Given the description of an element on the screen output the (x, y) to click on. 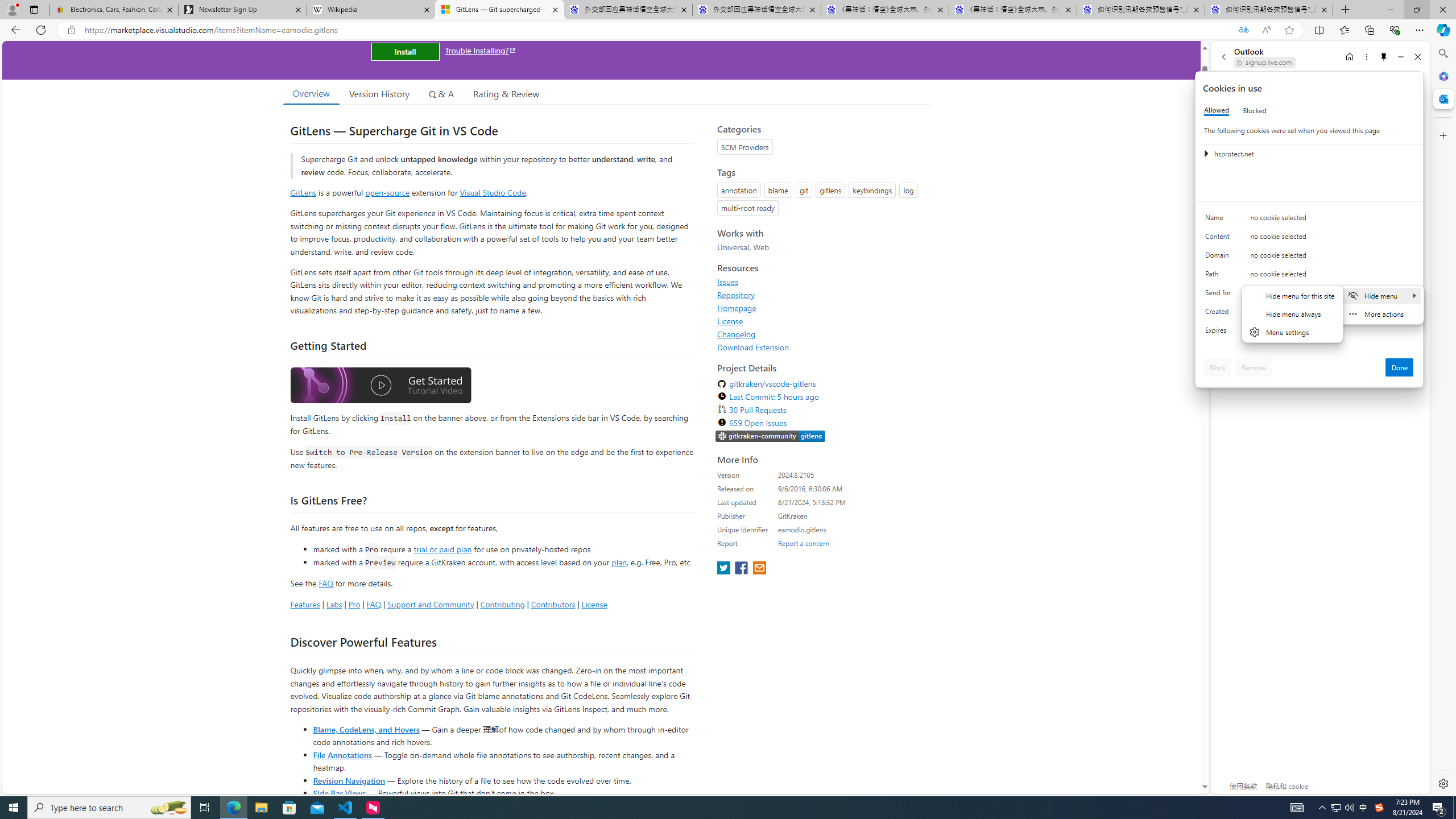
Hide menu (1291, 313)
Menu settings (1291, 331)
Expires (1219, 332)
Created (1219, 313)
Class: c0153 c0157 c0154 (1309, 220)
Remove (1253, 367)
Send for (1219, 295)
Allowed (1216, 110)
Hide menu always (1291, 313)
